Given the description of an element on the screen output the (x, y) to click on. 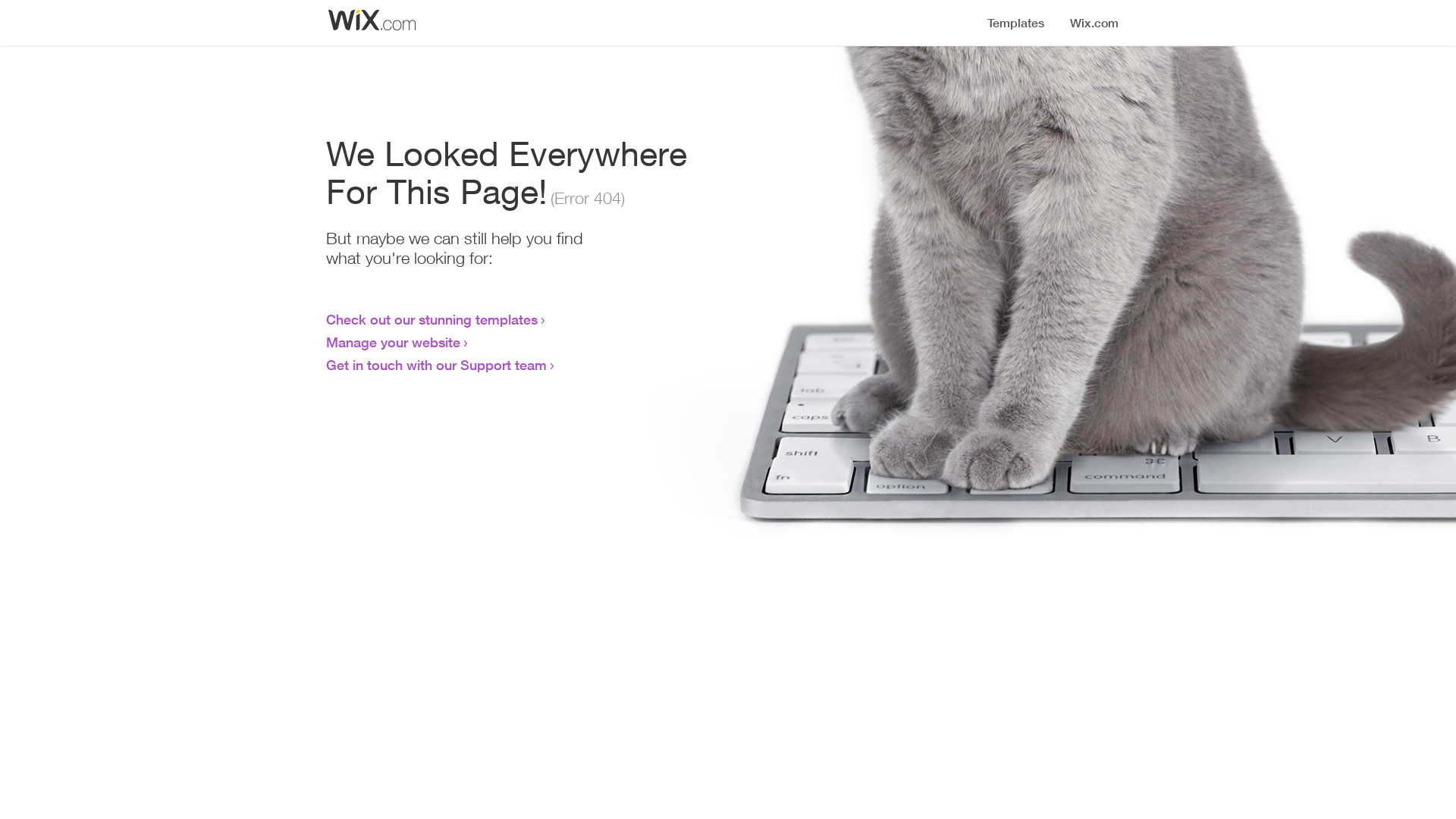
Check out our stunning templates Element type: text (431, 318)
Manage your website Element type: text (393, 341)
Get in touch with our Support team Element type: text (436, 364)
